Given the description of an element on the screen output the (x, y) to click on. 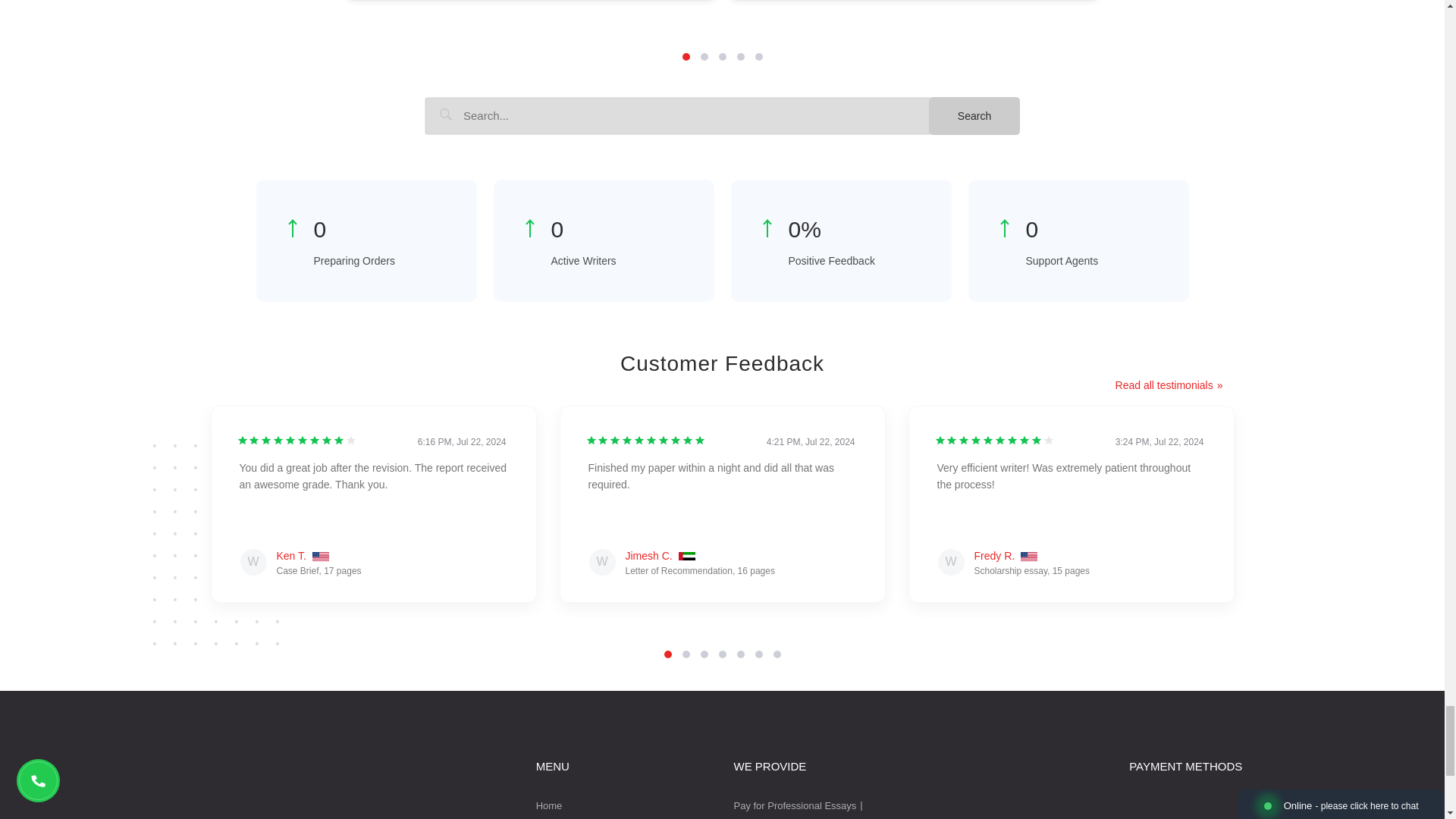
United Arab Emirates (686, 557)
Search (974, 116)
USA (1028, 557)
USA (321, 557)
